Given the description of an element on the screen output the (x, y) to click on. 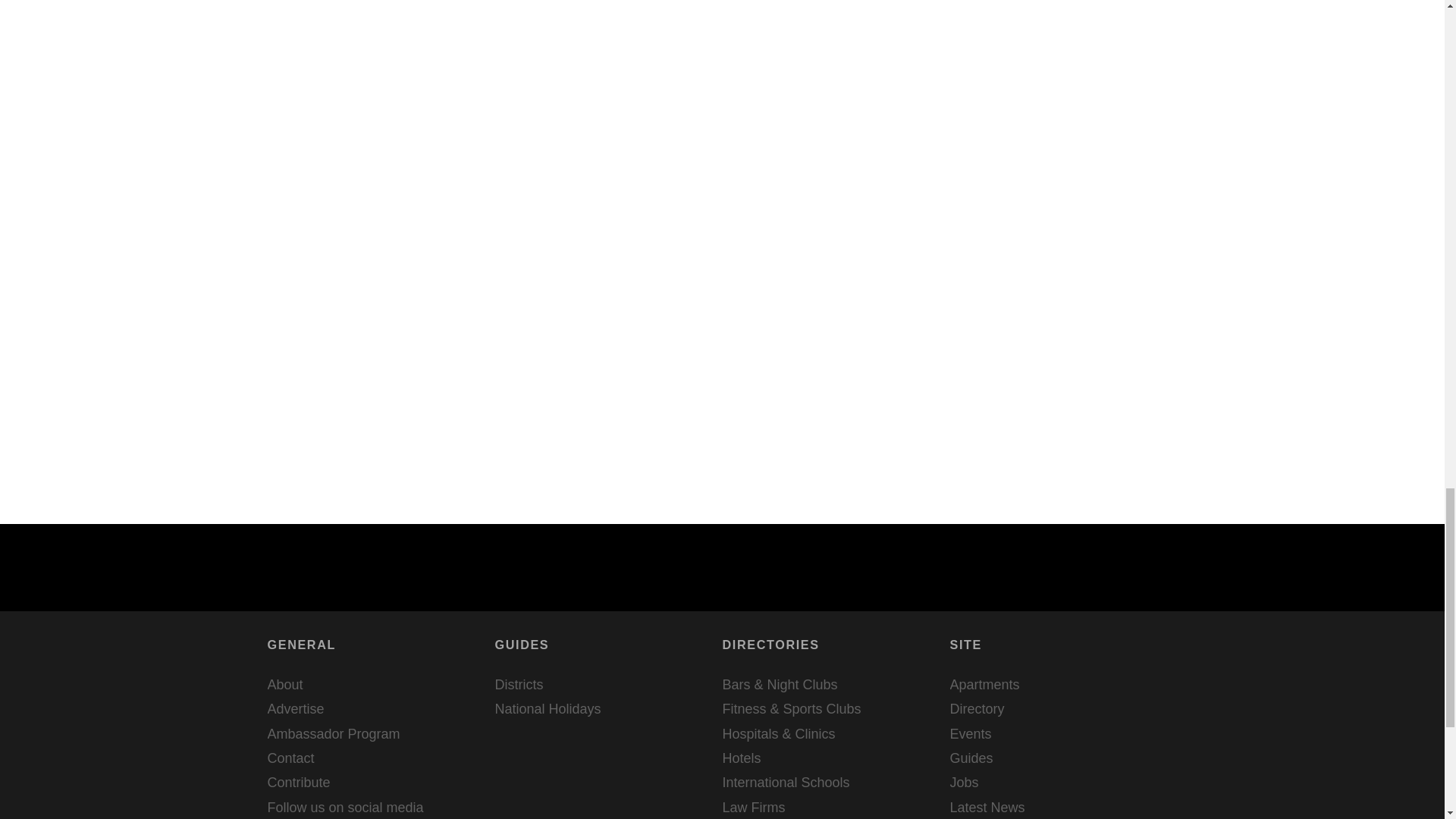
3rd party ad content (1062, 183)
3rd party ad content (1062, 44)
3rd party ad content (1062, 372)
